Given the description of an element on the screen output the (x, y) to click on. 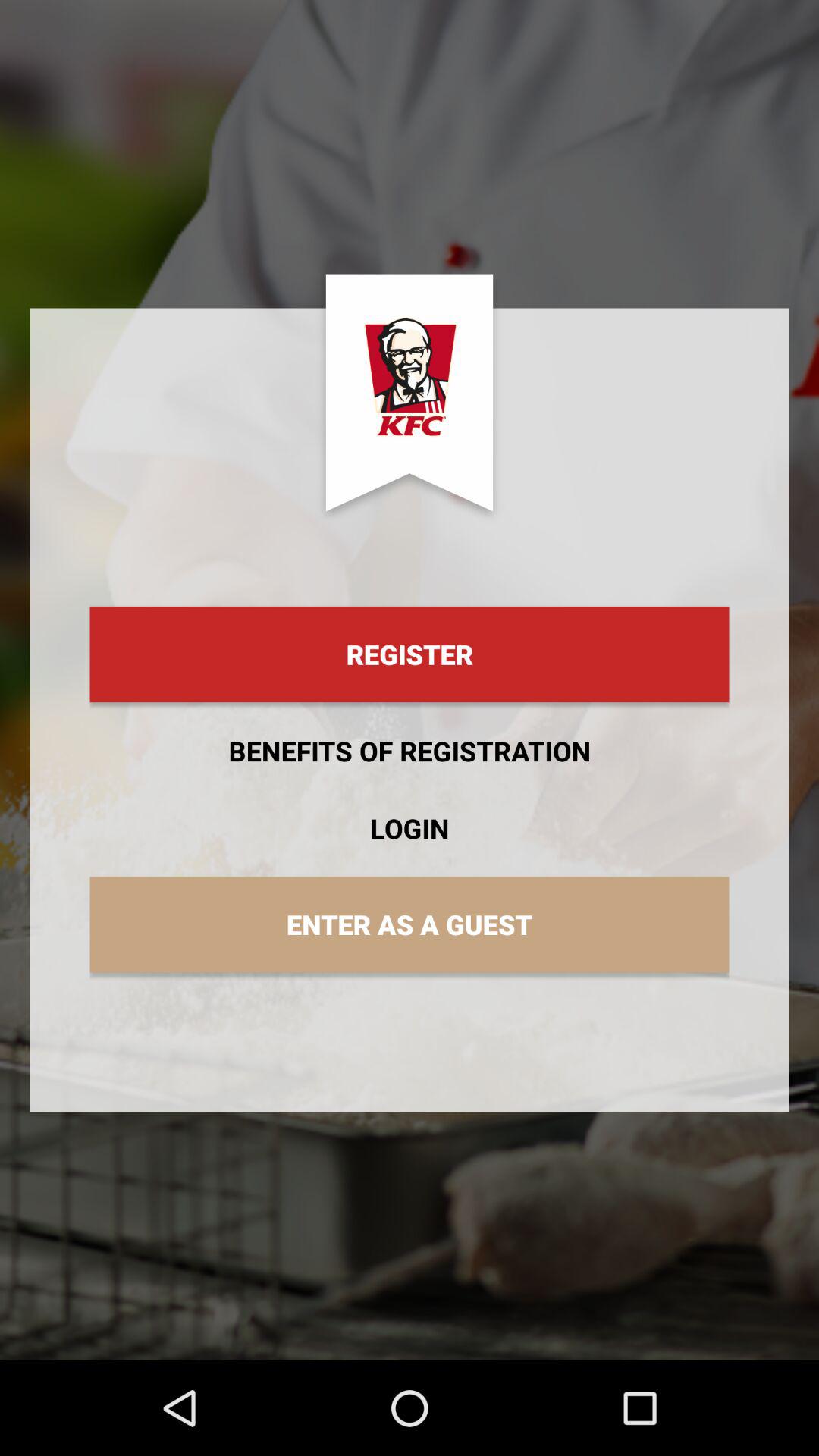
tap benefits of registration item (409, 750)
